Given the description of an element on the screen output the (x, y) to click on. 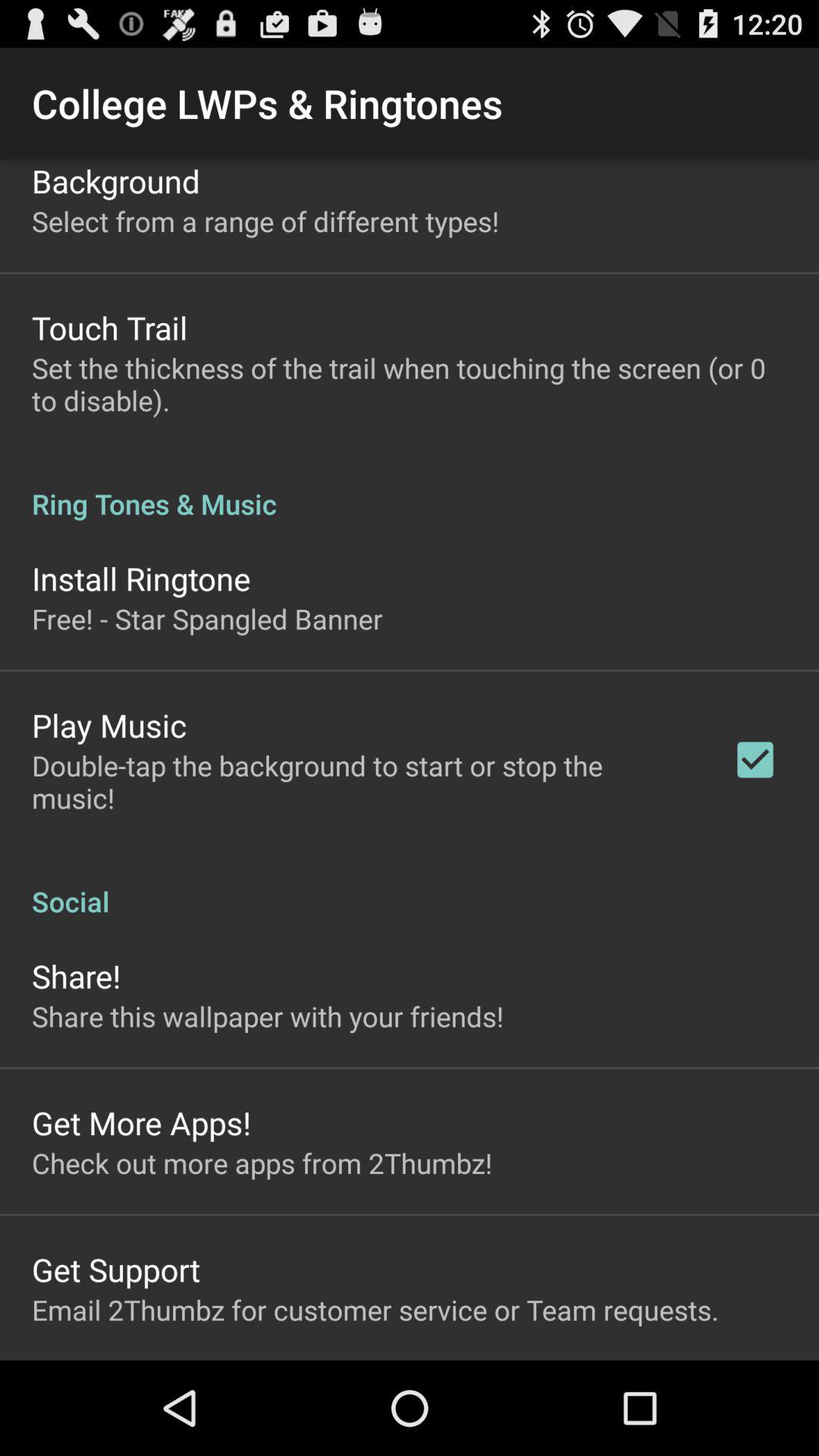
tap the app below ring tones & music (140, 578)
